Given the description of an element on the screen output the (x, y) to click on. 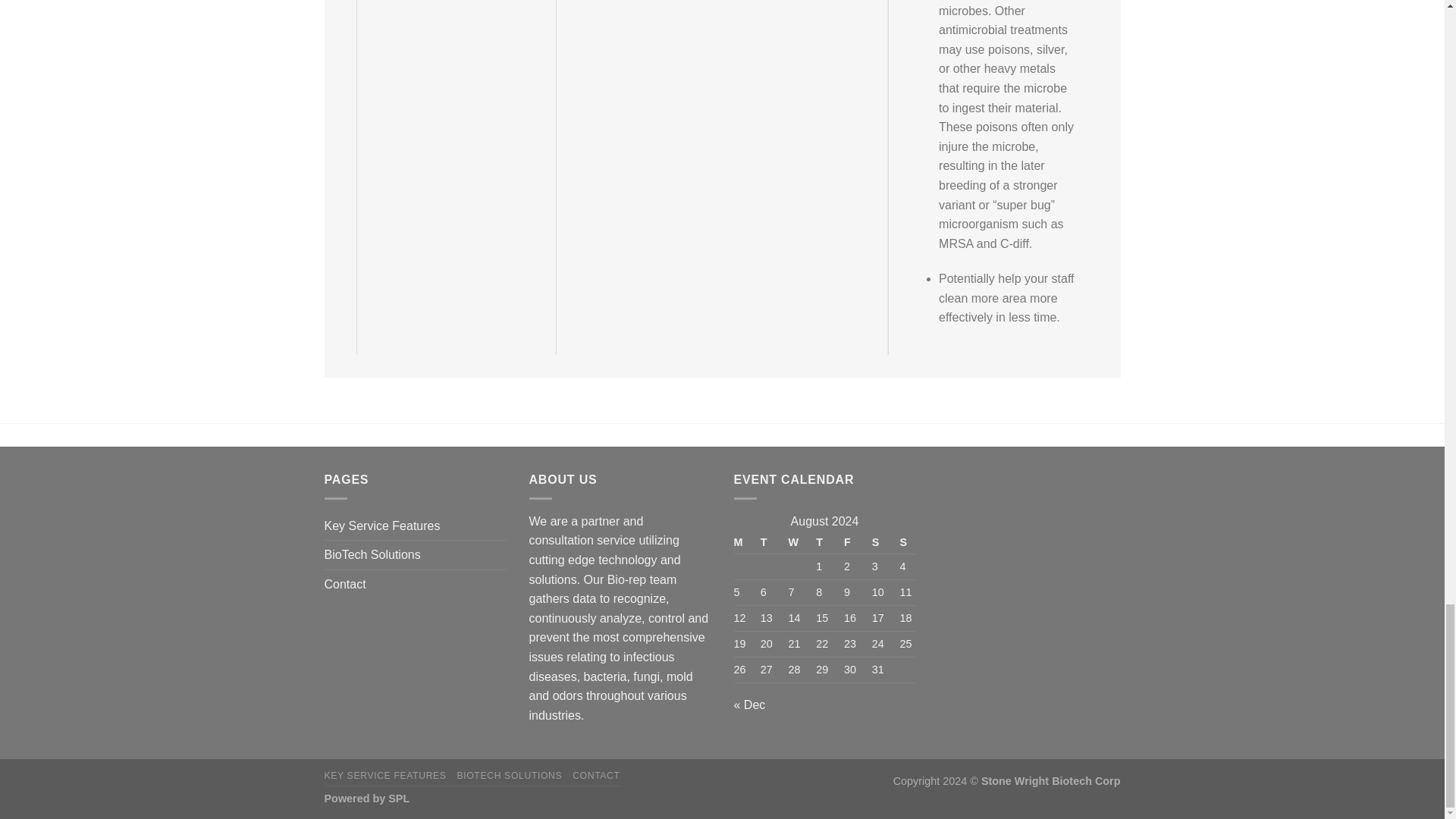
BIOTECH SOLUTIONS (509, 775)
CONTACT (596, 775)
Sunday (904, 542)
Friday (852, 542)
Key Service Features (382, 525)
Contact (345, 584)
Monday (744, 542)
KEY SERVICE FEATURES (385, 775)
Saturday (880, 542)
Thursday (824, 542)
